Given the description of an element on the screen output the (x, y) to click on. 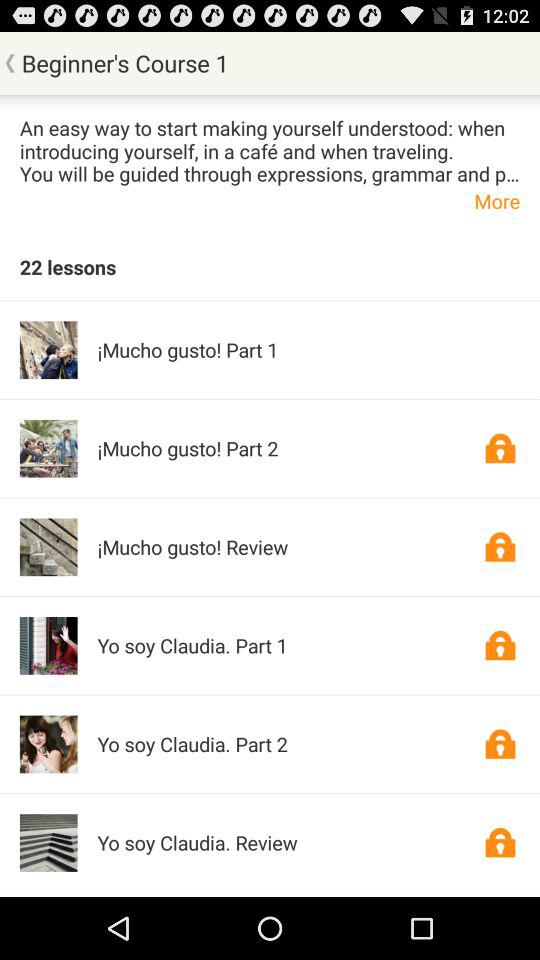
open item (500, 645)
